Given the description of an element on the screen output the (x, y) to click on. 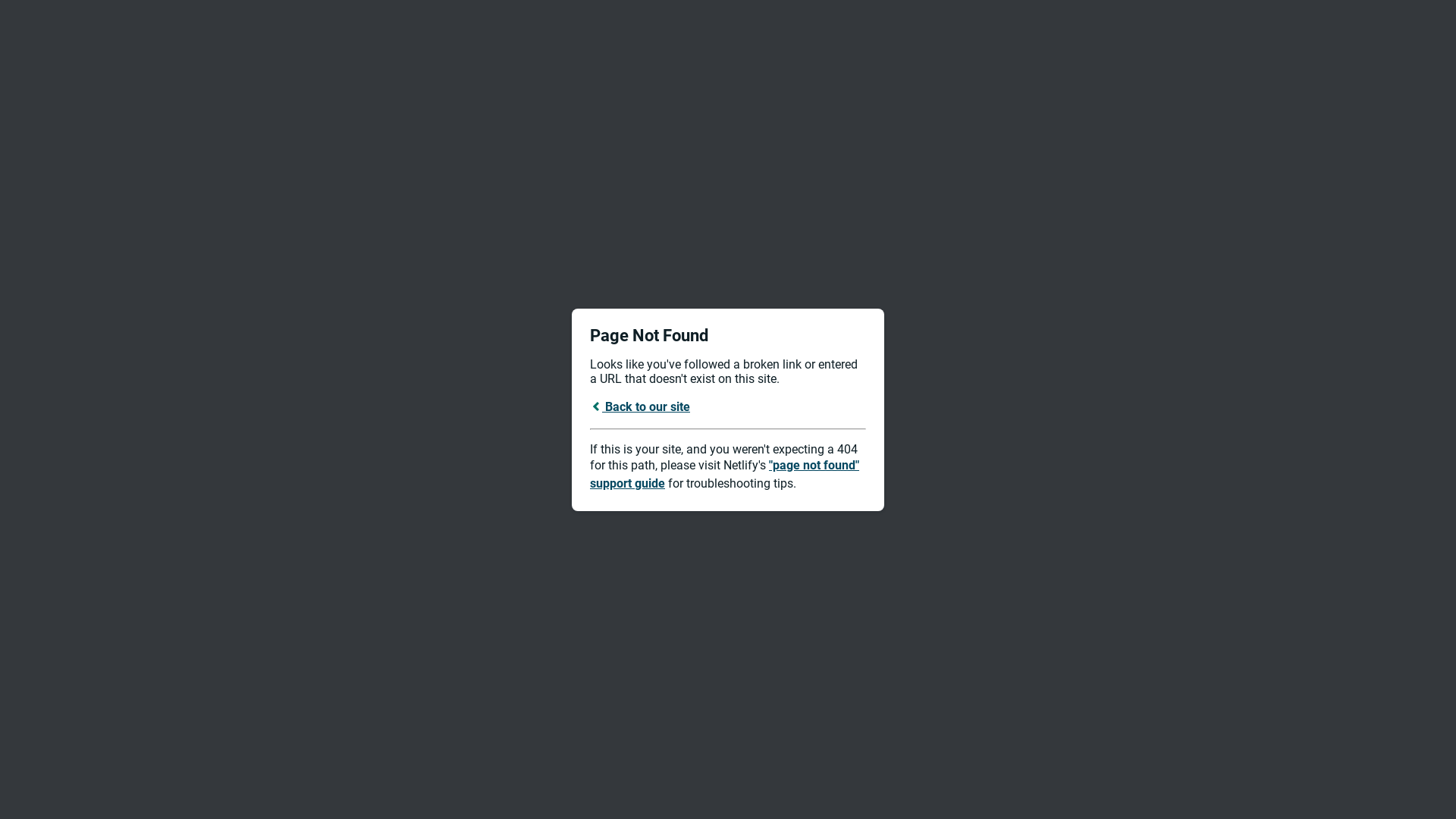
Back to our site Element type: text (639, 405)
"page not found" support guide Element type: text (724, 474)
